Given the description of an element on the screen output the (x, y) to click on. 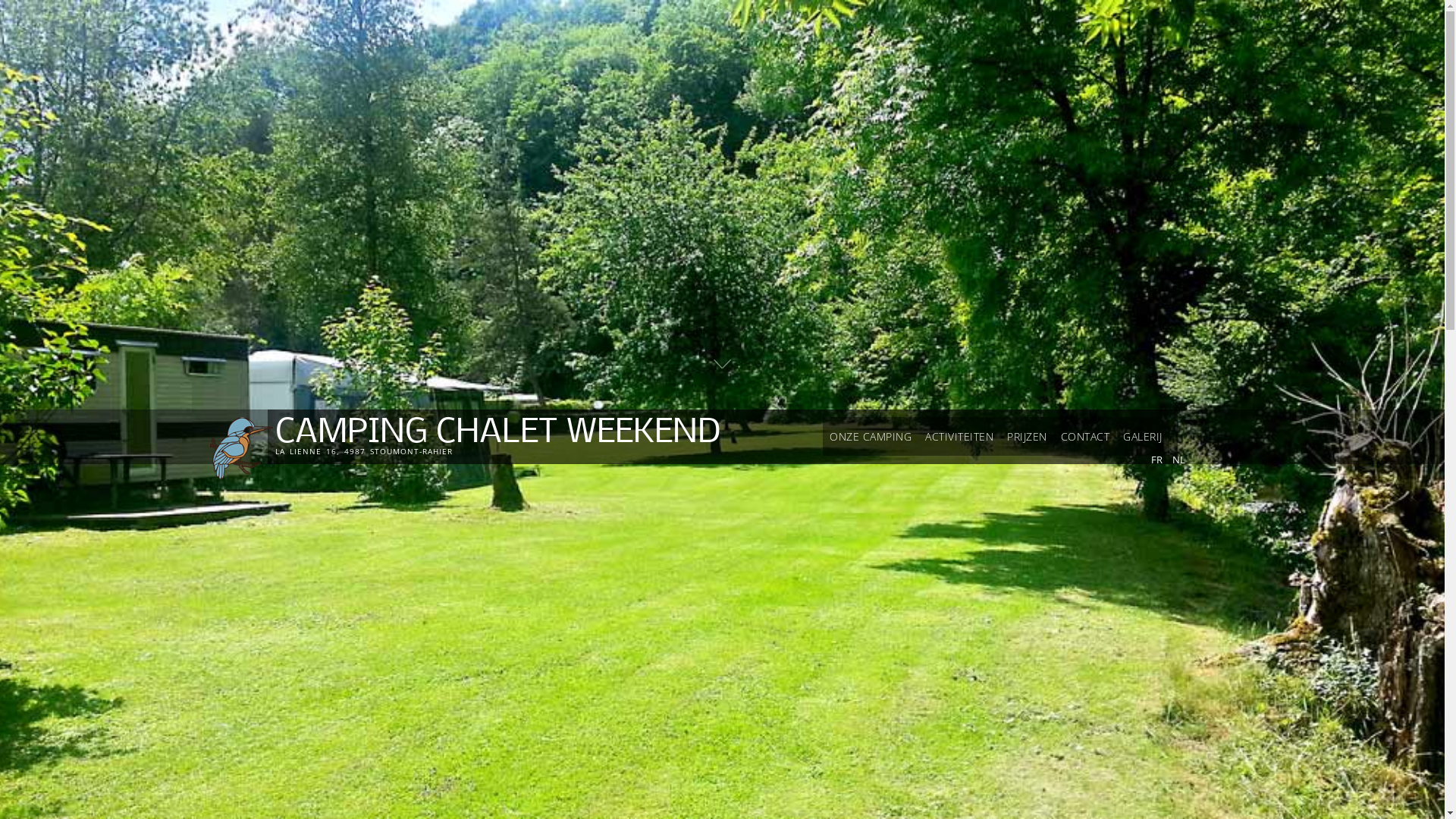
CAMPING CHALET WEEKEND Element type: text (497, 433)
ACTIVITEITEN Element type: text (959, 436)
PRIJZEN Element type: text (1027, 436)
ONZE CAMPING Element type: text (870, 436)
CONTACT Element type: text (1085, 436)
GALERIJ Element type: text (1142, 436)
FR Element type: text (1156, 459)
NL Element type: text (1178, 459)
